Given the description of an element on the screen output the (x, y) to click on. 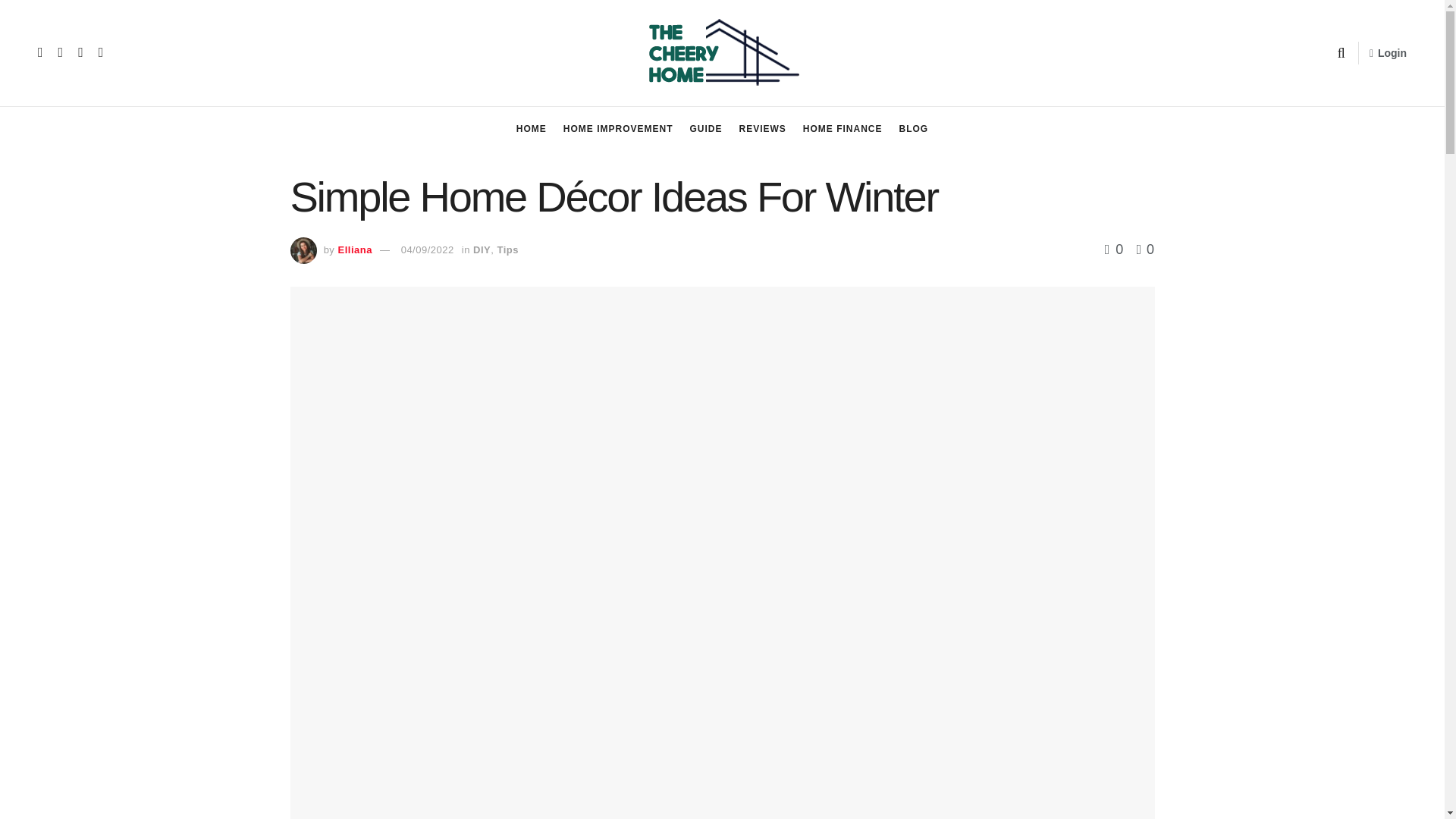
HOME IMPROVEMENT (617, 128)
Login (1388, 53)
